Given the description of an element on the screen output the (x, y) to click on. 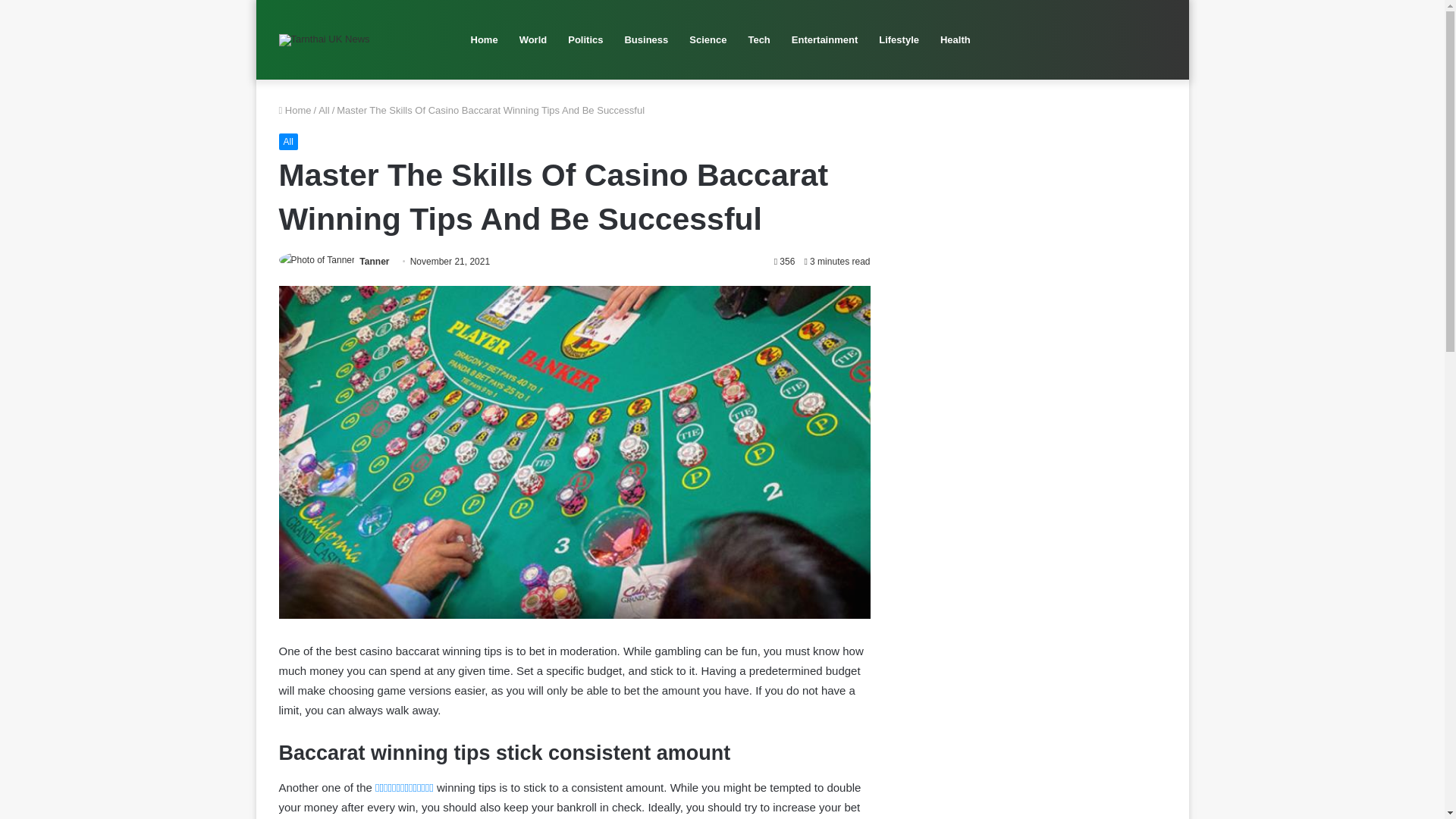
Tarnthai UK News (324, 39)
Home (295, 110)
All (288, 141)
Tanner (373, 261)
All (323, 110)
Tanner (373, 261)
Entertainment (823, 39)
